Given the description of an element on the screen output the (x, y) to click on. 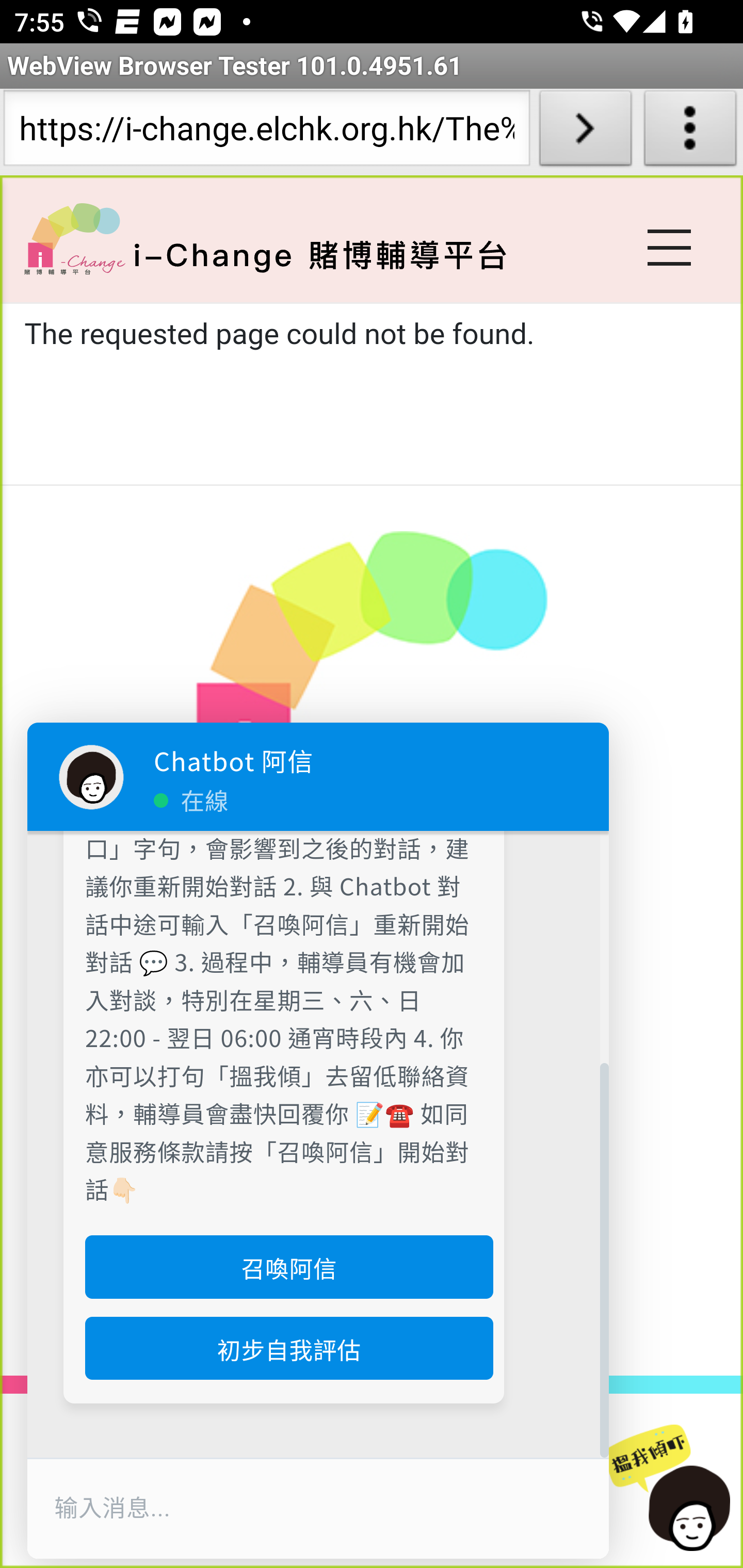
Load URL (585, 132)
About WebView (690, 132)
Home (74, 238)
Chat Now (674, 1488)
